Given the description of an element on the screen output the (x, y) to click on. 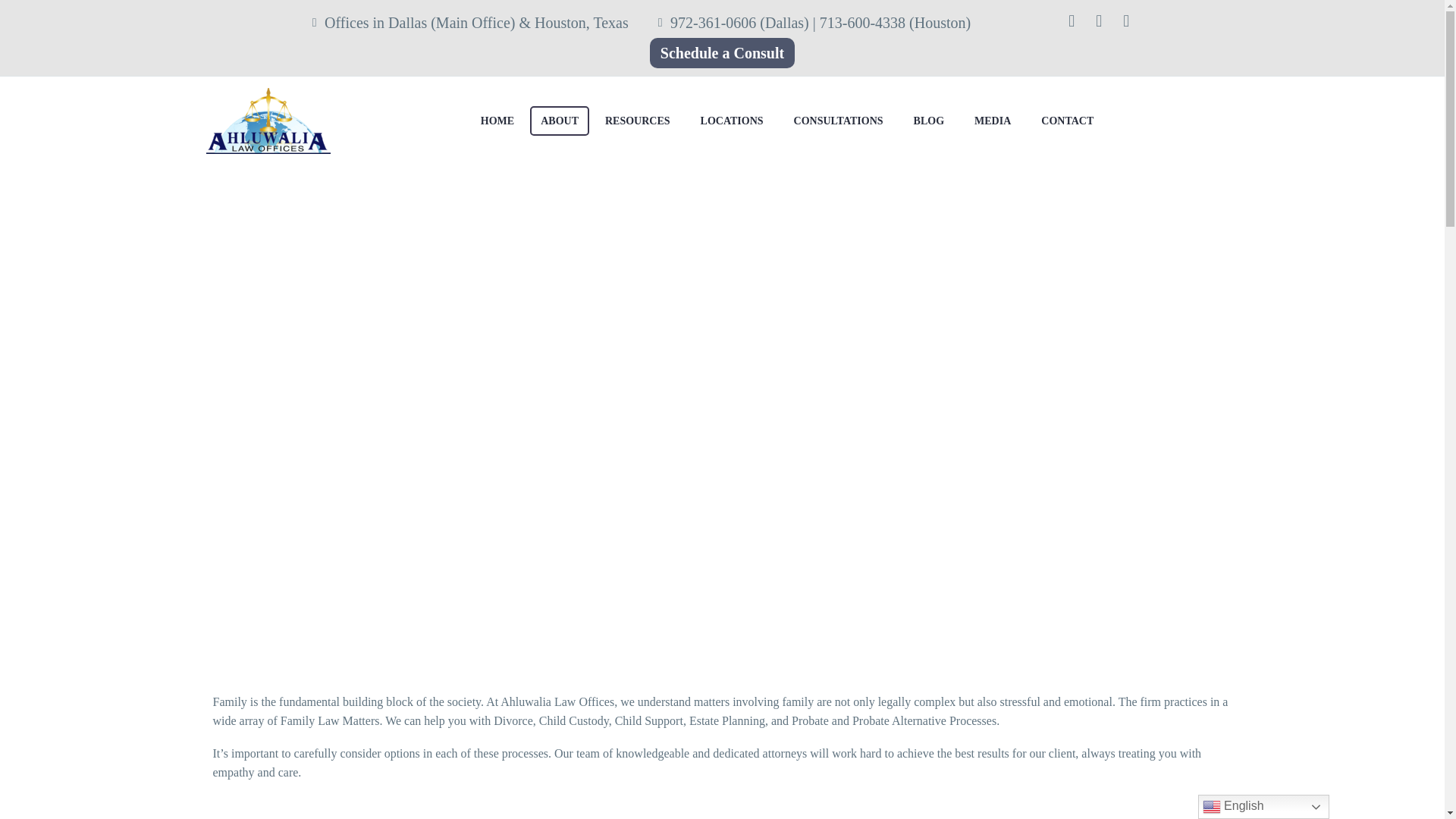
RESOURCES (637, 120)
ABOUT (559, 120)
BLOG (928, 120)
Schedule a Consult (721, 52)
CONSULTATIONS (838, 120)
MEDIA (992, 120)
Facebook (1071, 28)
CONTACT (1067, 120)
Twitter (1098, 28)
YouTube (1126, 28)
